Given the description of an element on the screen output the (x, y) to click on. 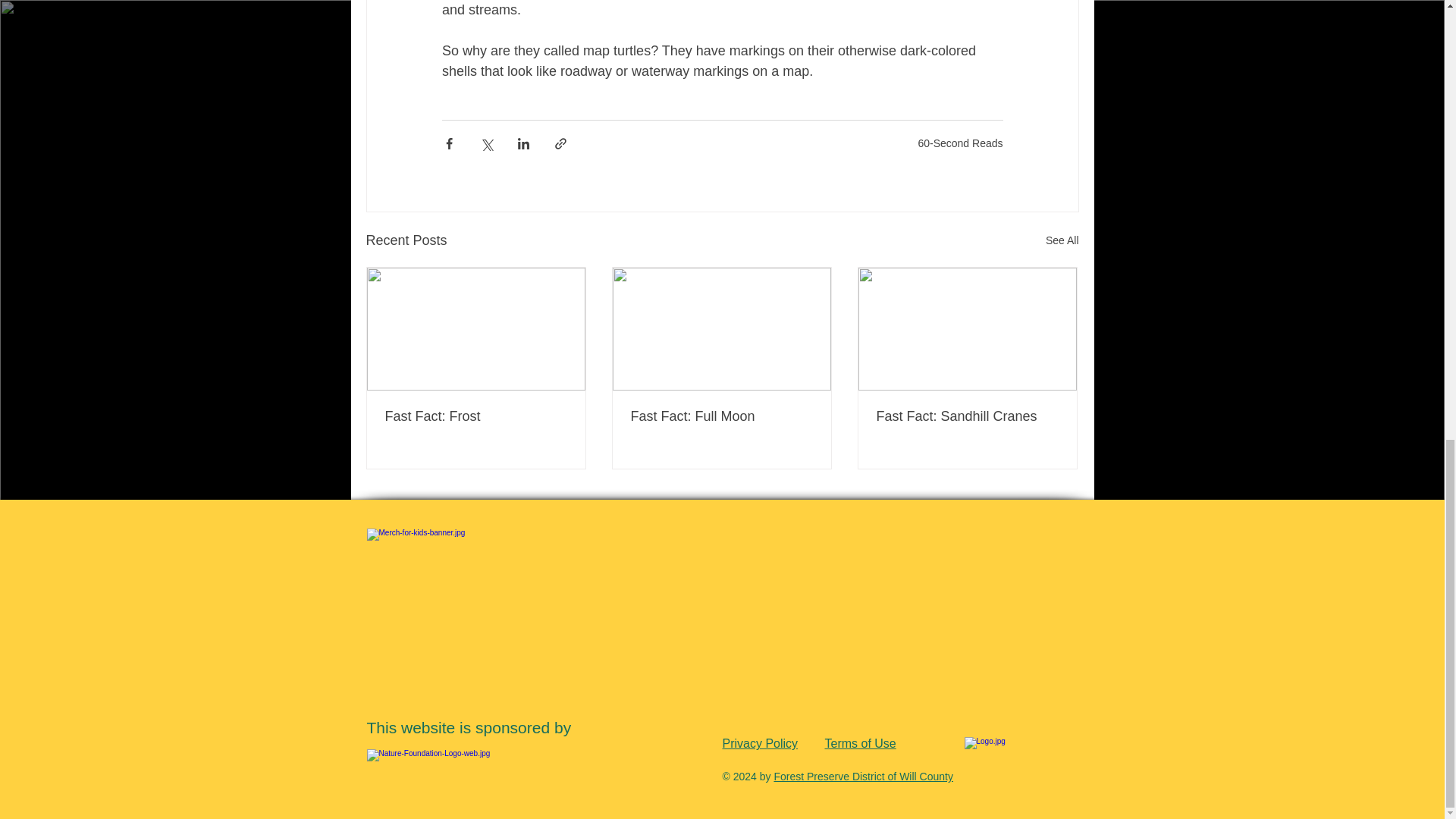
Privacy Policy (759, 743)
Fast Fact: Full Moon (721, 416)
60-Second Reads (960, 143)
See All (1061, 240)
Forest Preserve District of Will County (863, 776)
Terms of Use (860, 743)
Fast Fact: Frost (476, 416)
Fast Fact: Sandhill Cranes (967, 416)
Merch-for-kids-banner.png (721, 609)
